Given the description of an element on the screen output the (x, y) to click on. 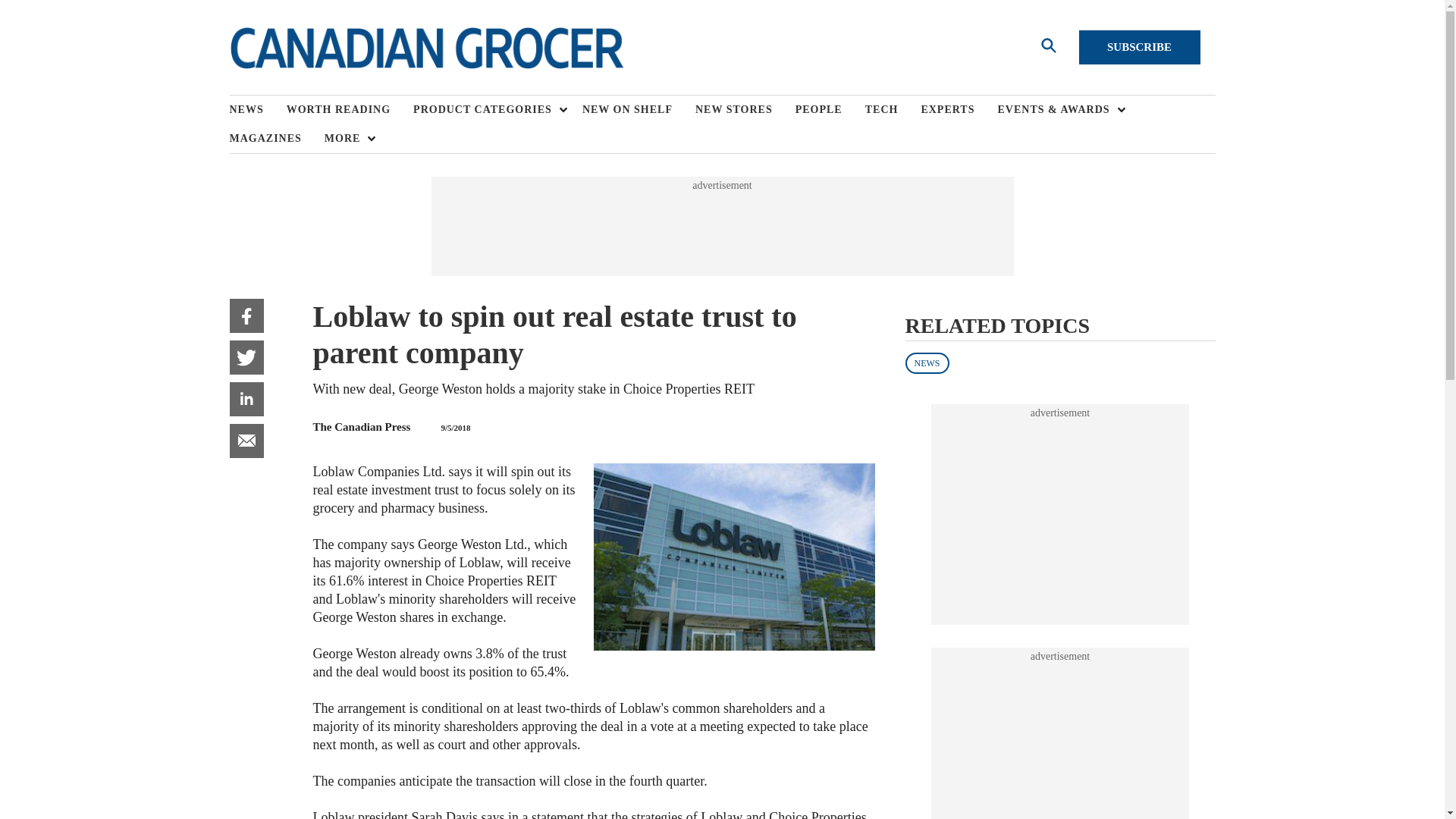
email (245, 440)
facebook (245, 315)
linkedIn (245, 399)
3rd party ad content (721, 226)
PRODUCT CATEGORIES (486, 109)
NEWS (927, 362)
3rd party ad content (1059, 514)
twitter (245, 357)
linkedIn (245, 399)
NEWS (256, 109)
PEOPLE (829, 109)
TECH (892, 109)
email (245, 440)
WORTH READING (349, 109)
EXPERTS (958, 109)
